Given the description of an element on the screen output the (x, y) to click on. 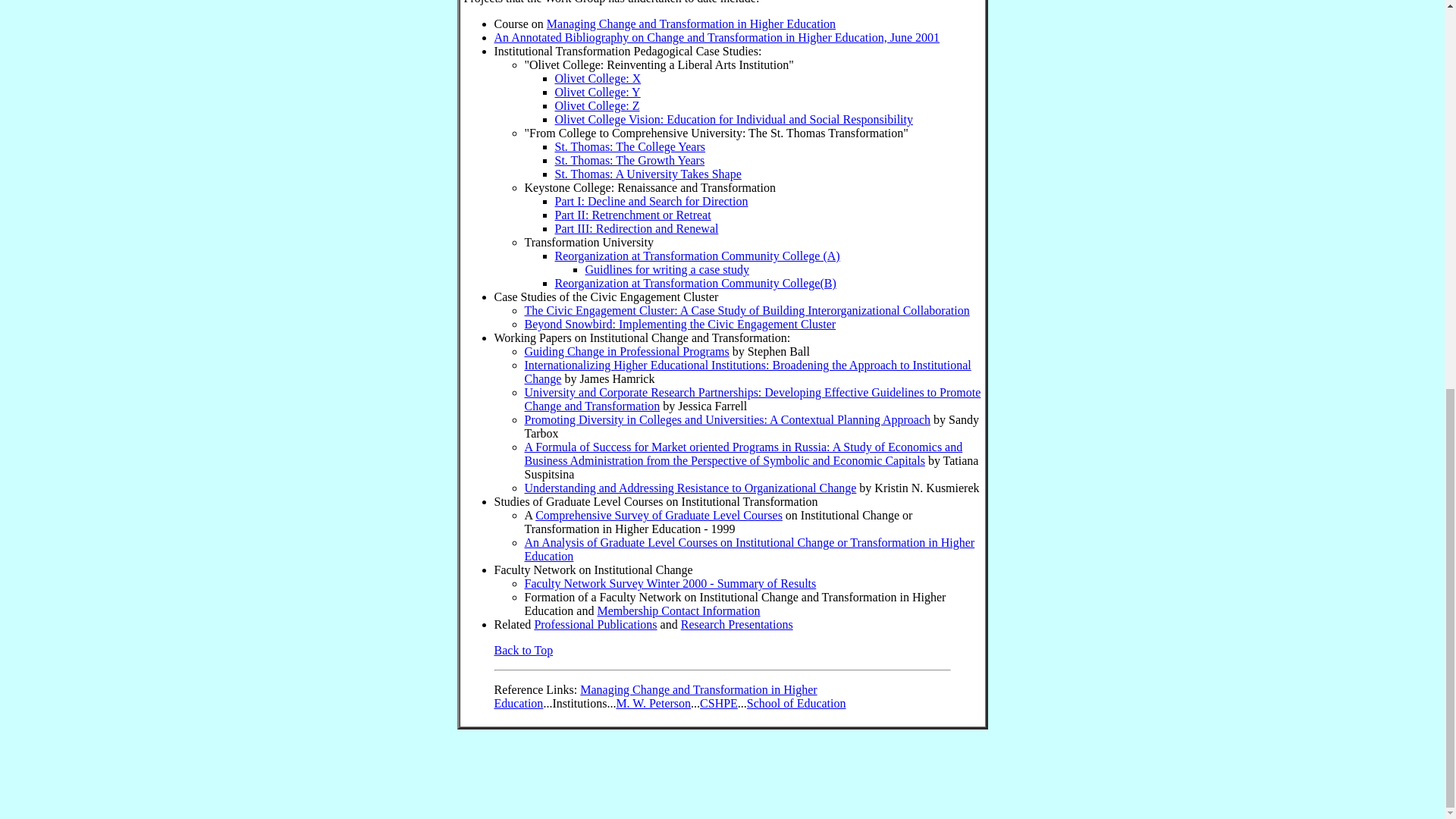
Managing Change and Transformation in Higher Education (655, 696)
Olivet College: X (598, 78)
Beyond Snowbird: Implementing the Civic Engagement Cluster (679, 323)
Part I: Decline and Search for Direction (651, 201)
M. W. Peterson (652, 703)
St. Thomas: The Growth Years (629, 160)
Membership Contact Information (678, 610)
